Given the description of an element on the screen output the (x, y) to click on. 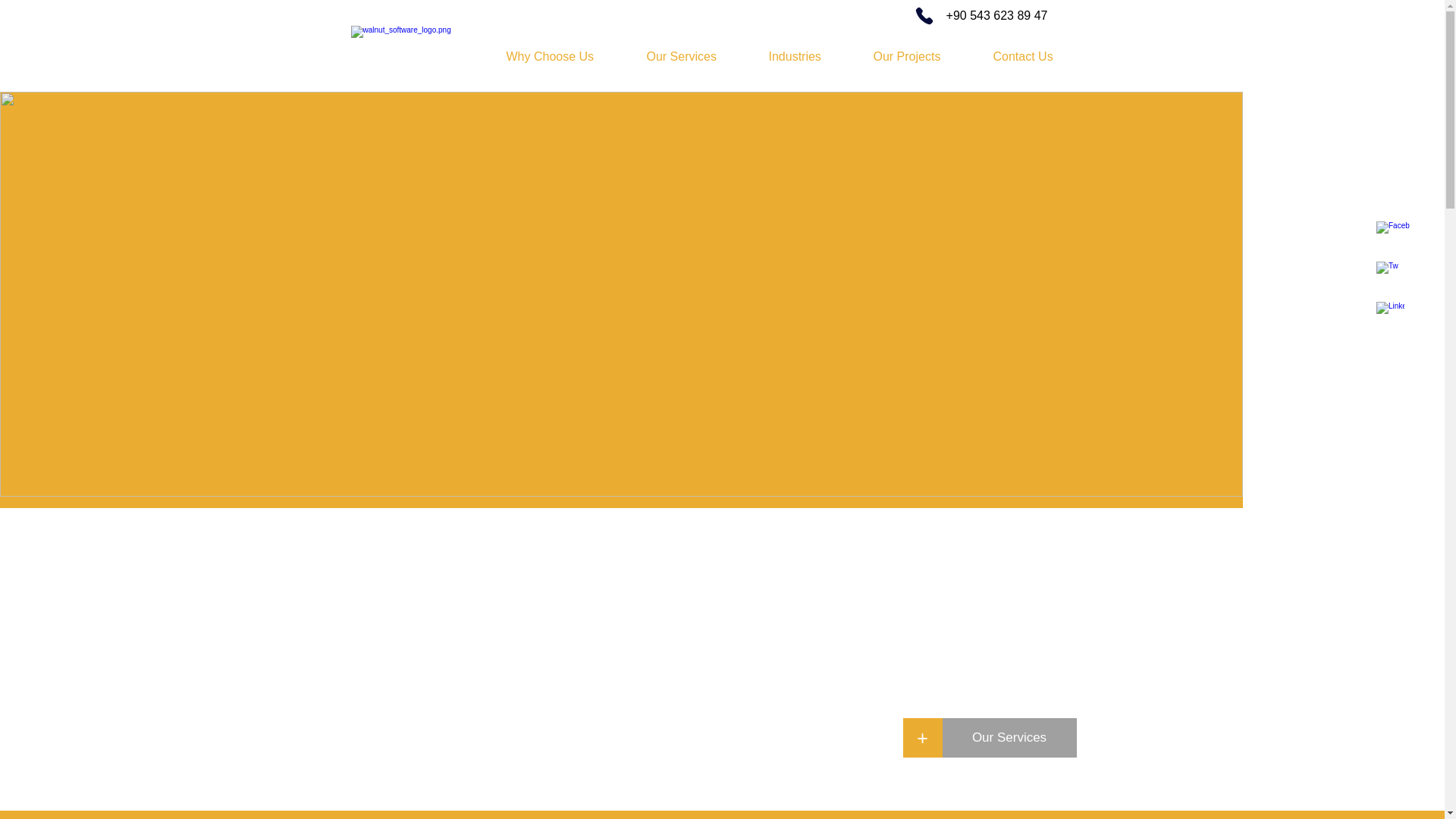
Why Choose Us (564, 56)
Industries (809, 56)
Our Services (1008, 737)
Contact Us (1037, 56)
Our Services (695, 56)
Our Projects (921, 56)
